Given the description of an element on the screen output the (x, y) to click on. 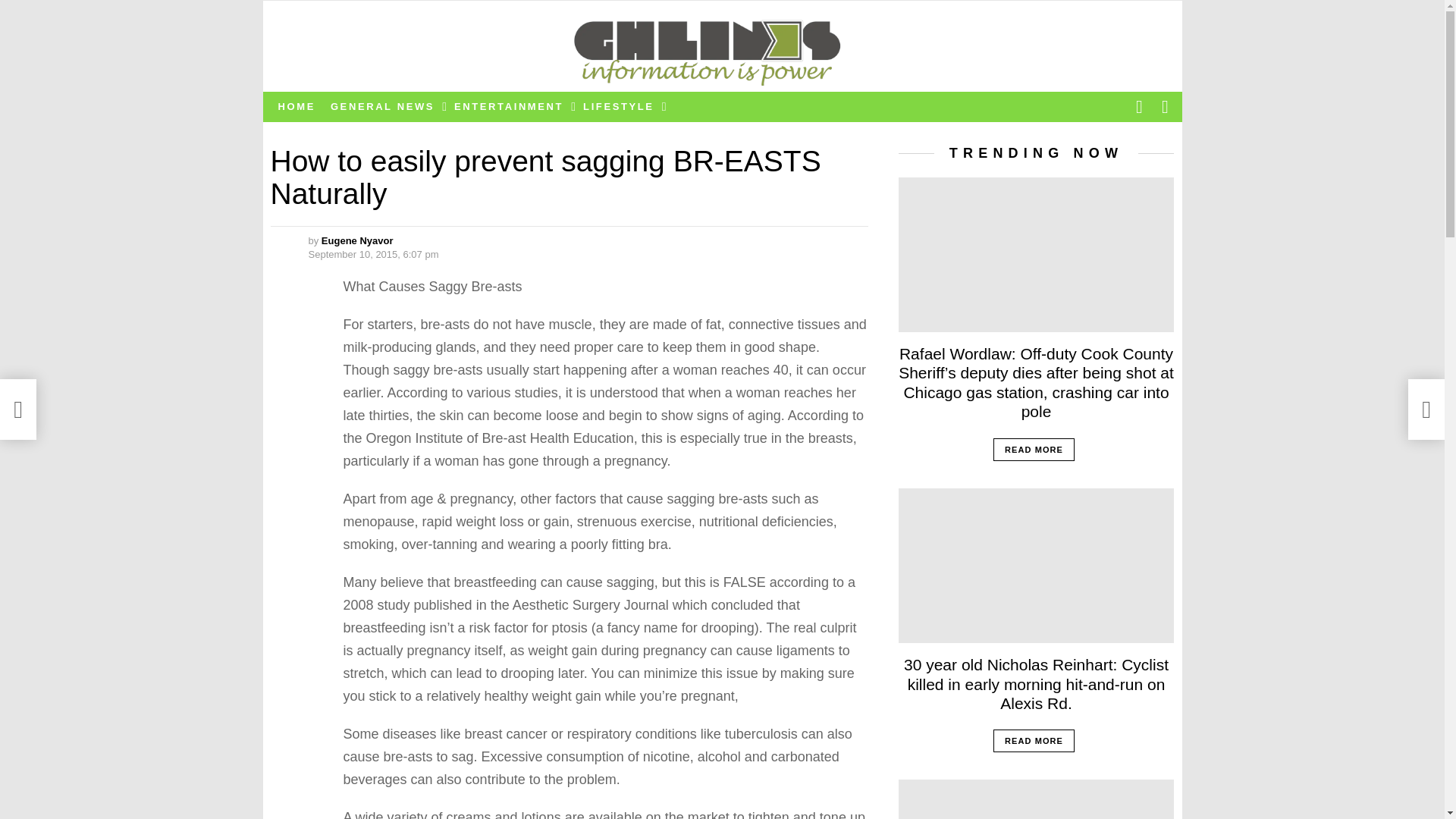
HOME (295, 106)
ENTERTAINMENT (510, 106)
Posts by Eugene Nyavor (357, 240)
LIFESTYLE (620, 106)
Eugene Nyavor (357, 240)
GENERAL NEWS (384, 106)
